Given the description of an element on the screen output the (x, y) to click on. 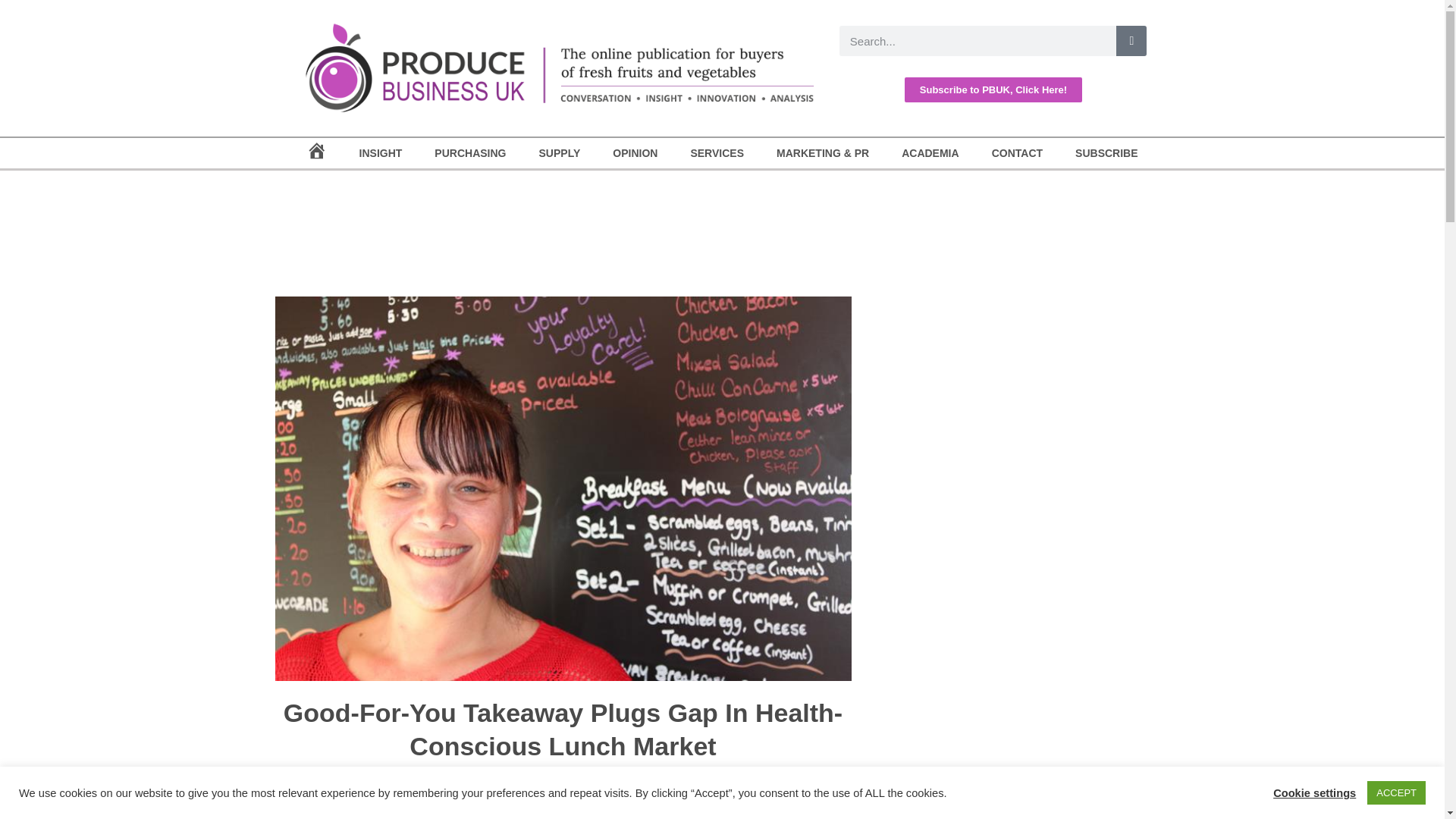
MENU ITEM (315, 153)
3rd party ad content (1017, 588)
ACADEMIA (930, 153)
SUPPLY (559, 153)
PURCHASING (470, 153)
Subscribe to PBUK, Click Here! (992, 89)
SERVICES (717, 153)
CONTACT (1016, 153)
INSIGHT (380, 153)
3rd party ad content (721, 227)
SUBSCRIBE (1106, 153)
3rd party ad content (1017, 384)
OPINION (635, 153)
